Given the description of an element on the screen output the (x, y) to click on. 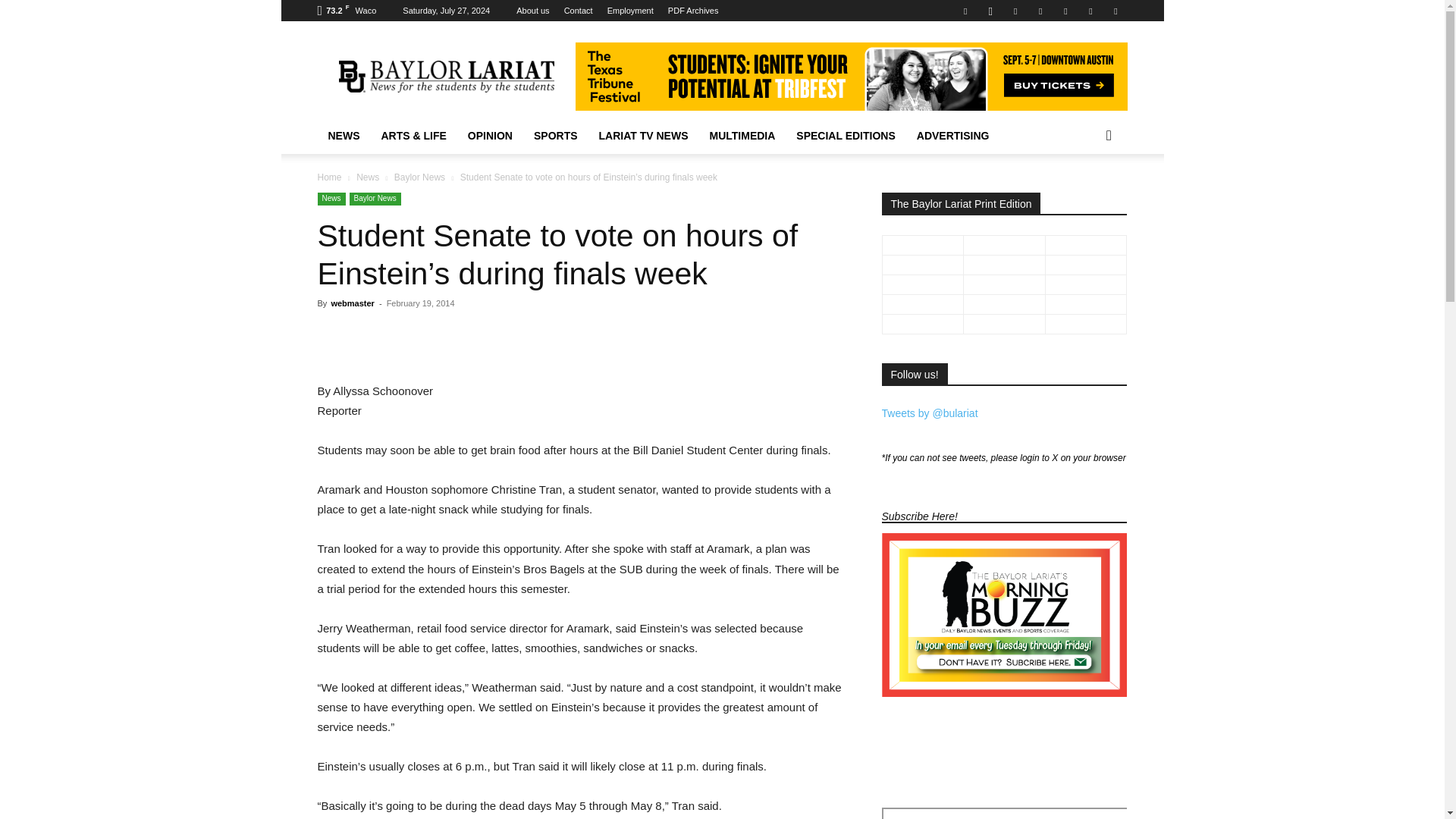
Student Employment (630, 10)
Mail (1040, 10)
Linkedin (1015, 10)
Facebook (964, 10)
Vimeo (1090, 10)
Twitter (1065, 10)
Instagram (989, 10)
Contact the Lariat (578, 10)
